Given the description of an element on the screen output the (x, y) to click on. 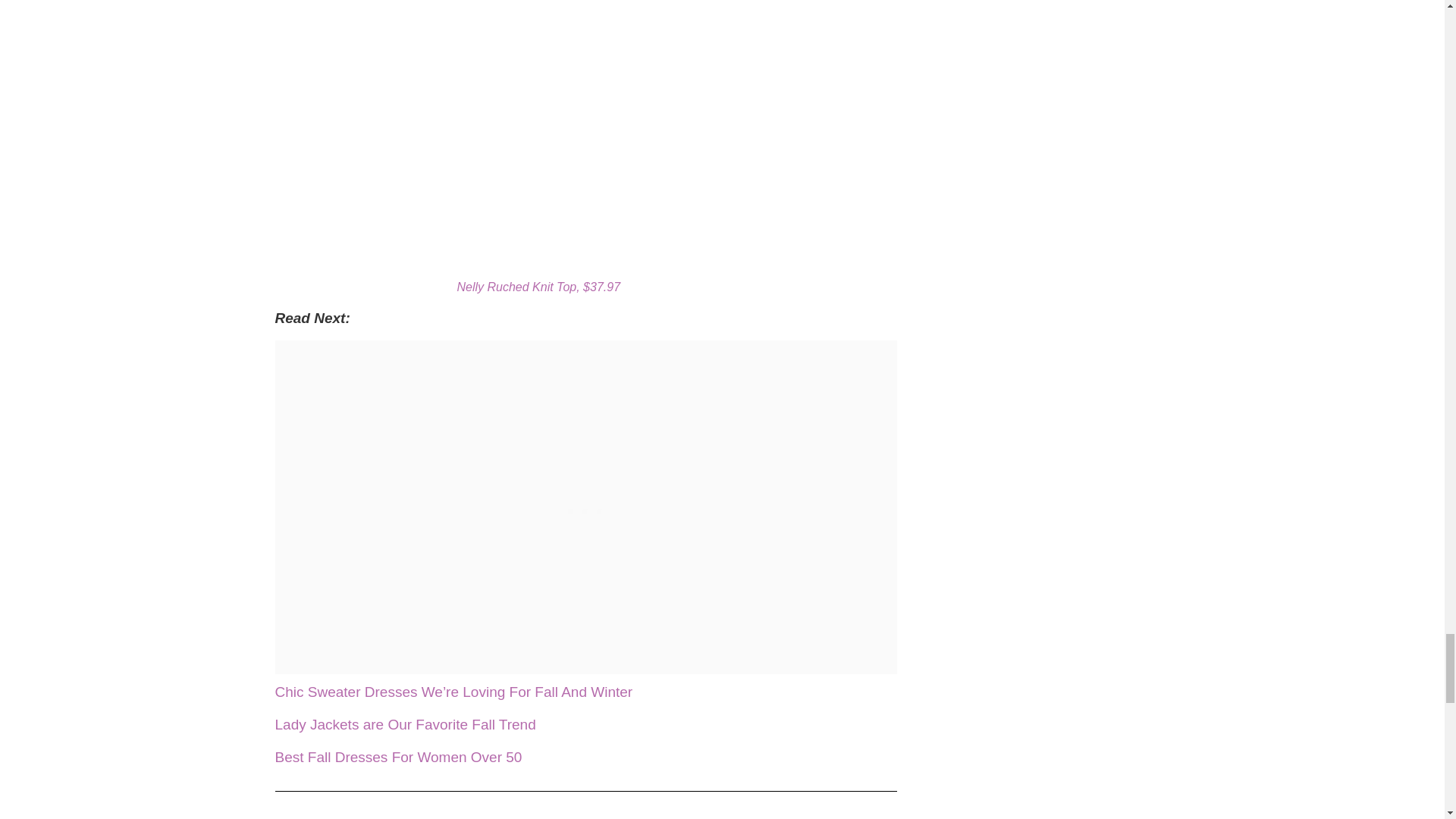
Best Fall Dresses For Women Over 50 (398, 756)
Lady Jackets are Our Favorite Fall Trend (405, 724)
